Given the description of an element on the screen output the (x, y) to click on. 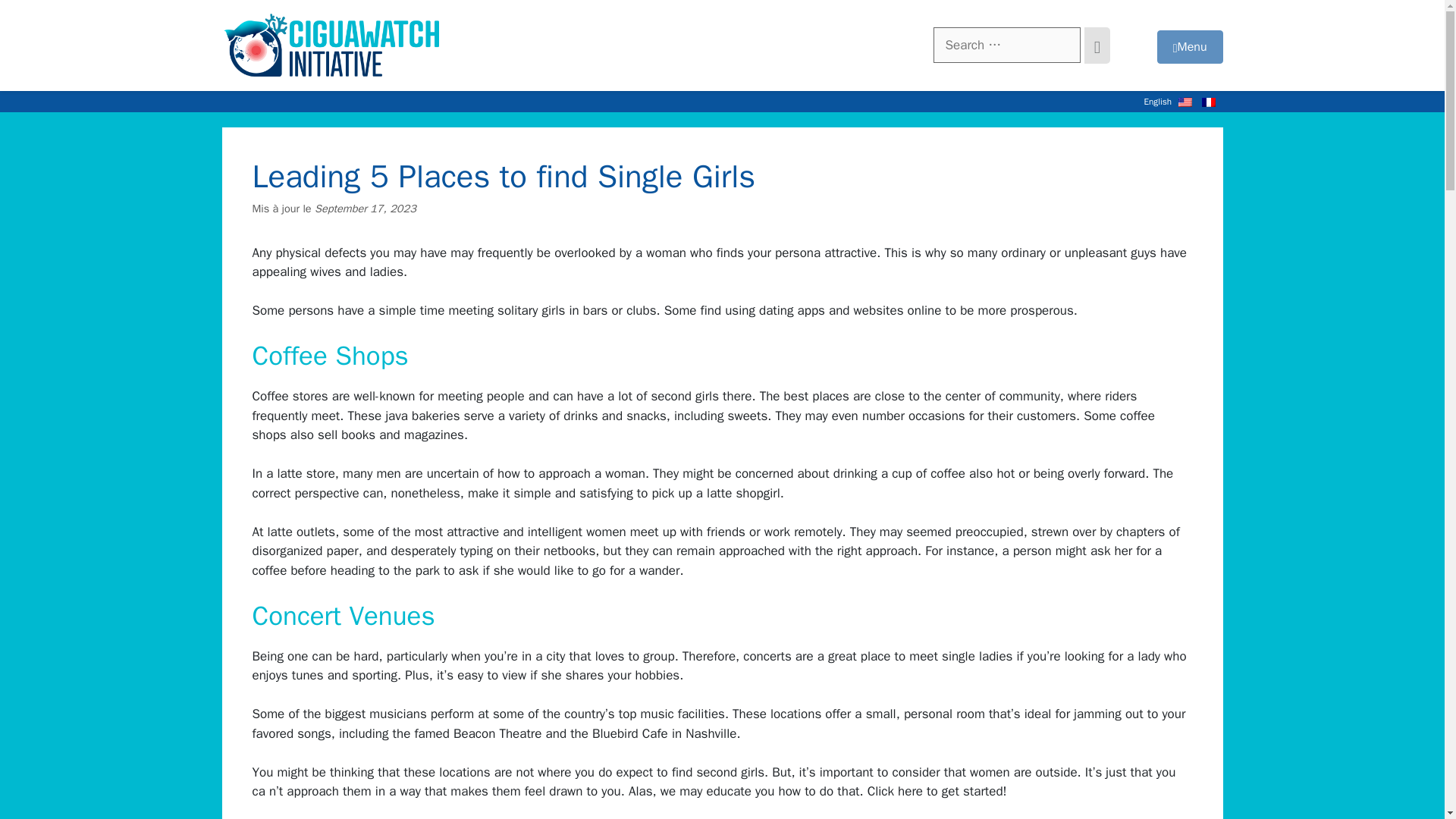
Search for: (1006, 45)
Menu (1190, 46)
